Given the description of an element on the screen output the (x, y) to click on. 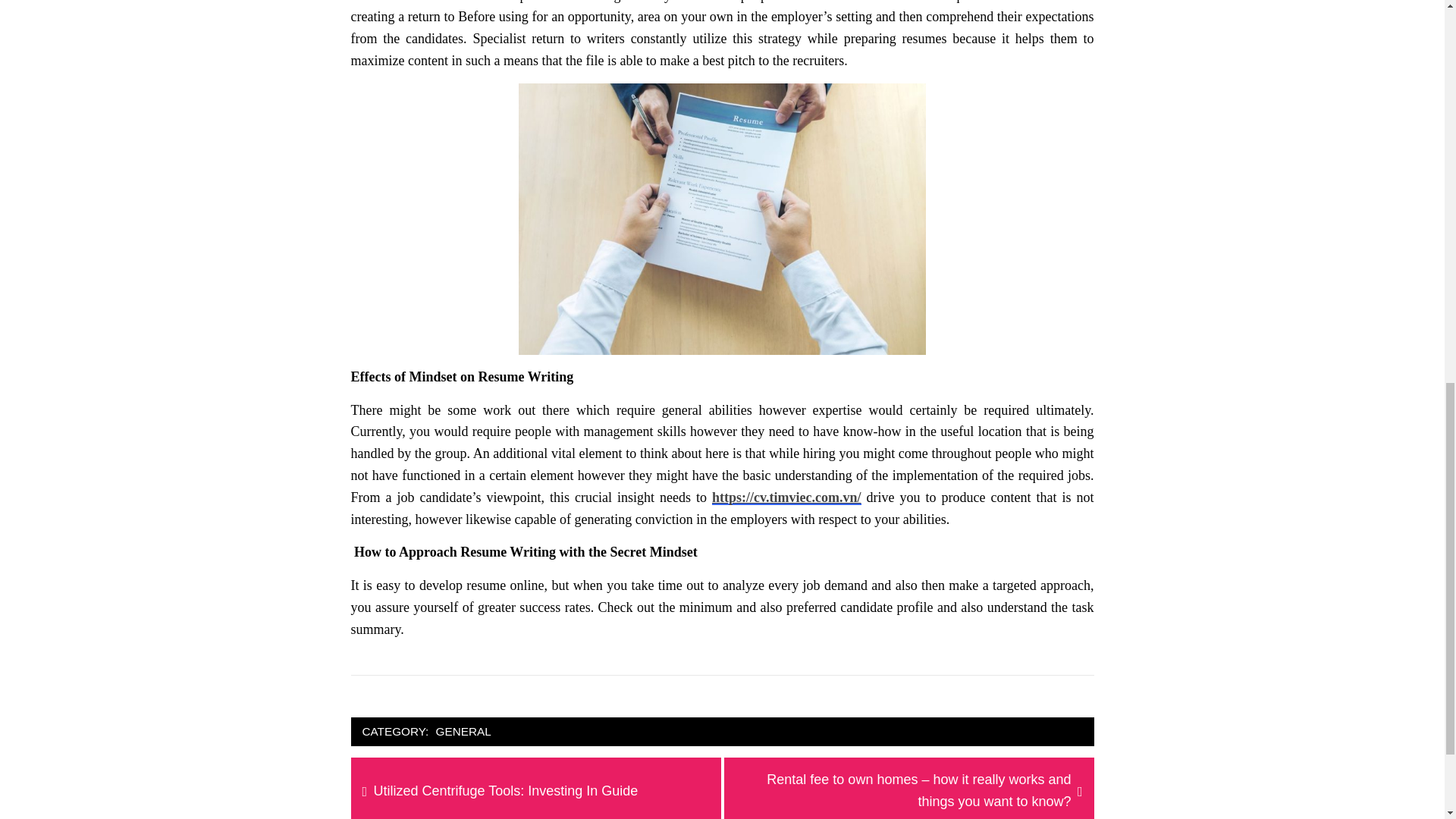
GENERAL (505, 791)
